Given the description of an element on the screen output the (x, y) to click on. 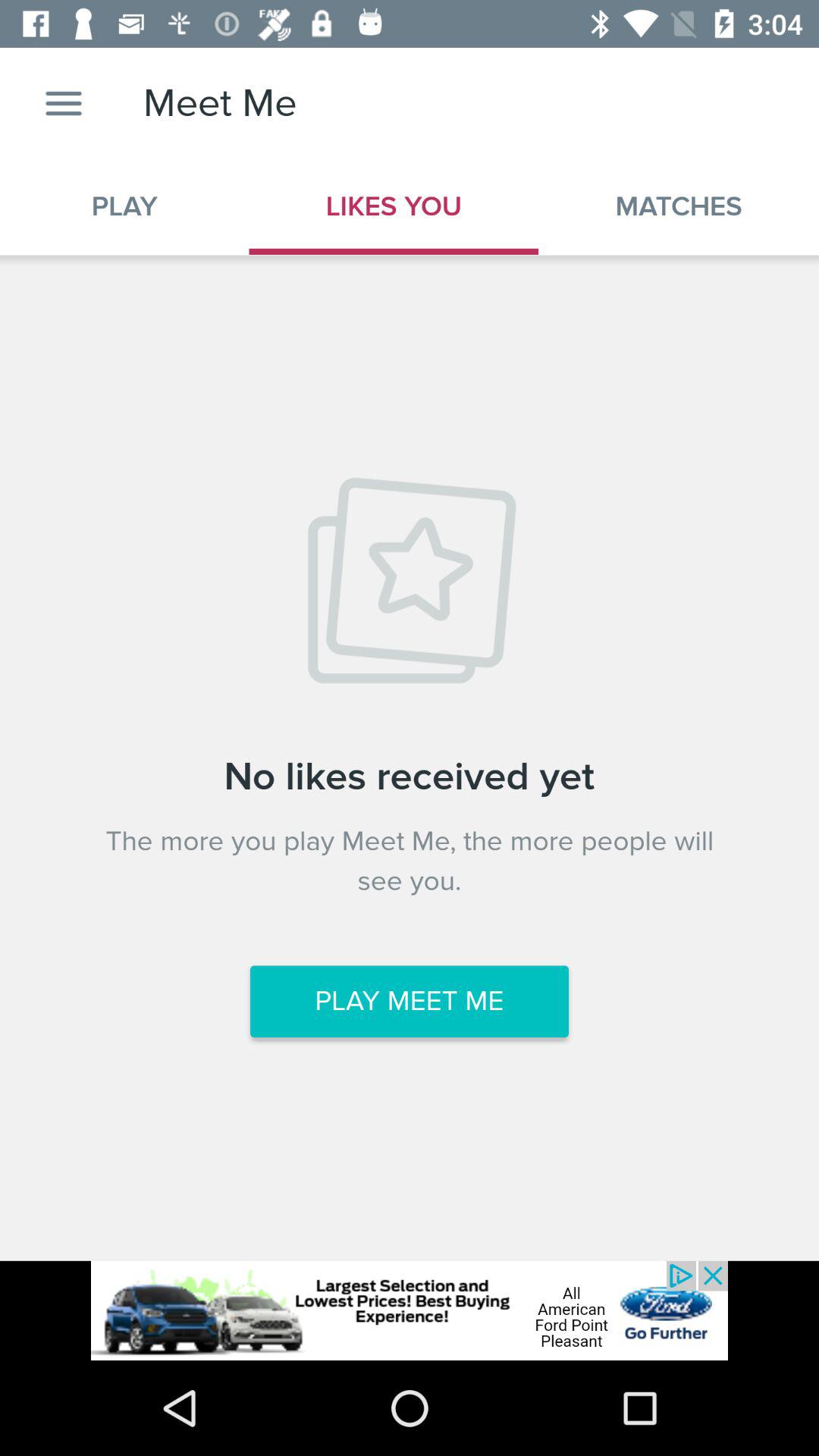
advertisement banner (409, 1310)
